Given the description of an element on the screen output the (x, y) to click on. 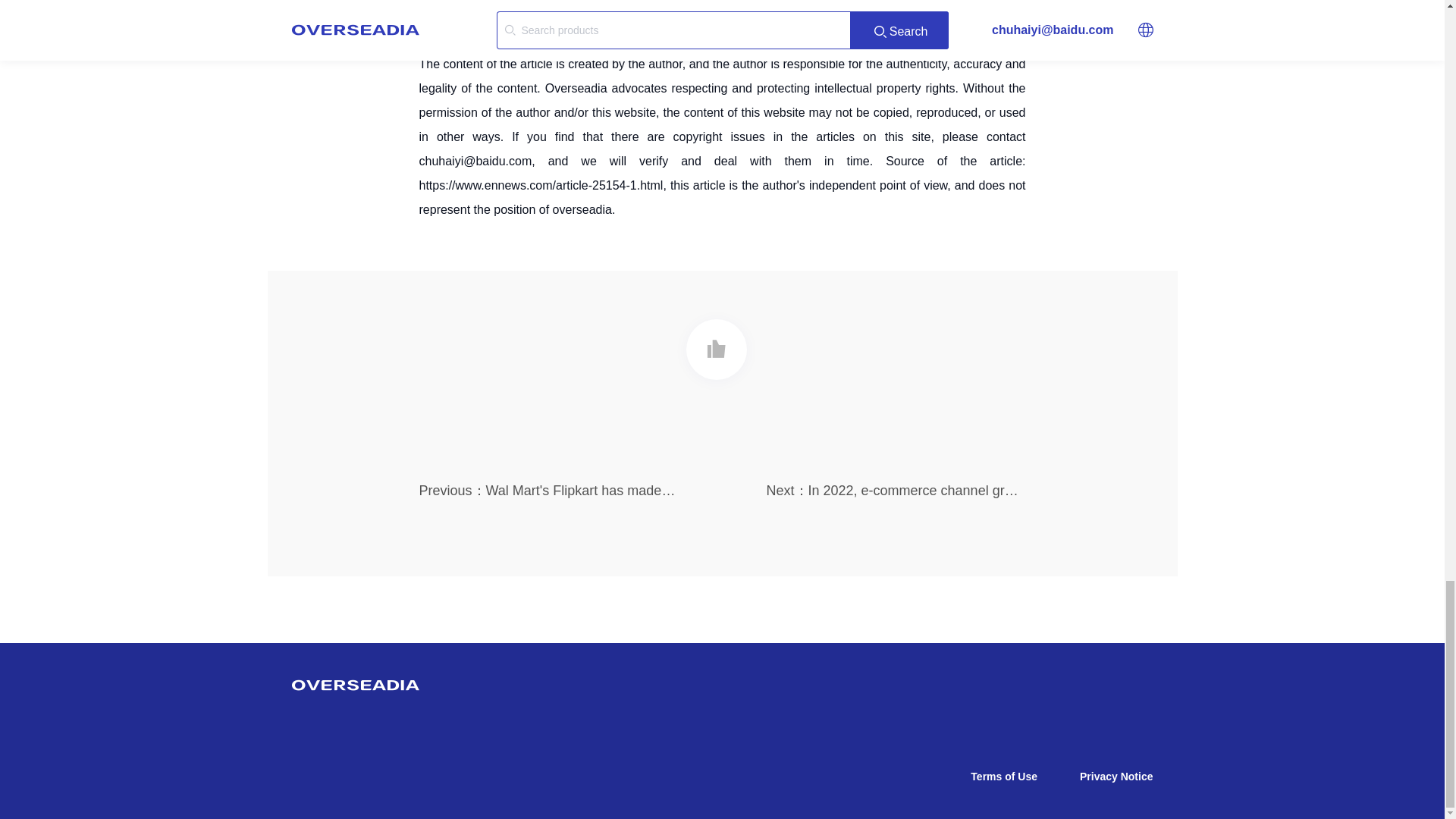
Terms of Use (1003, 776)
Privacy Notice (1116, 776)
